Given the description of an element on the screen output the (x, y) to click on. 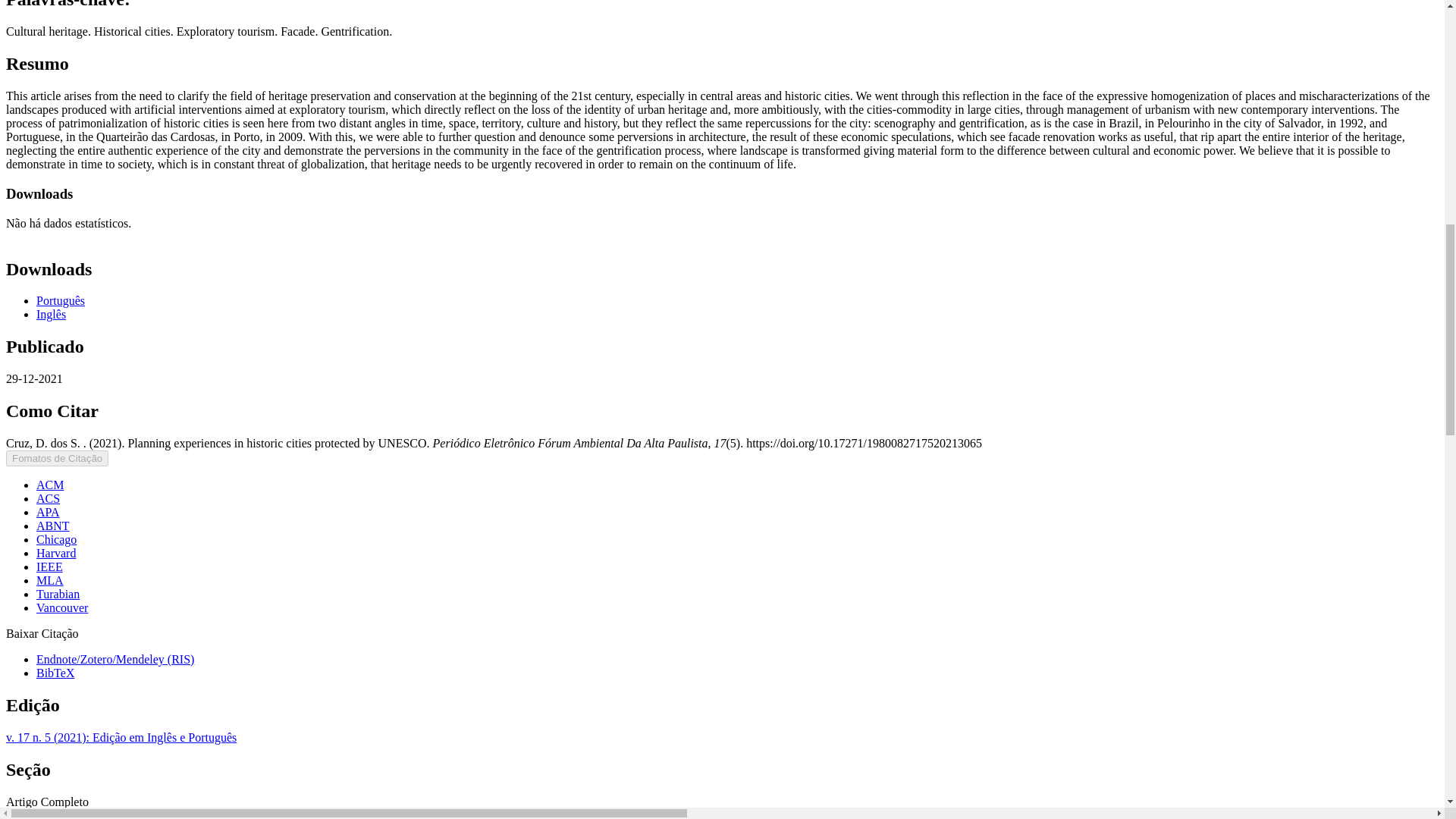
ACM (50, 484)
ACS (47, 498)
Harvard (55, 553)
APA (47, 512)
Chicago (56, 539)
MLA (50, 580)
ABNT (52, 525)
IEEE (49, 566)
Vancouver (61, 607)
BibTeX (55, 672)
Turabian (58, 594)
